Given the description of an element on the screen output the (x, y) to click on. 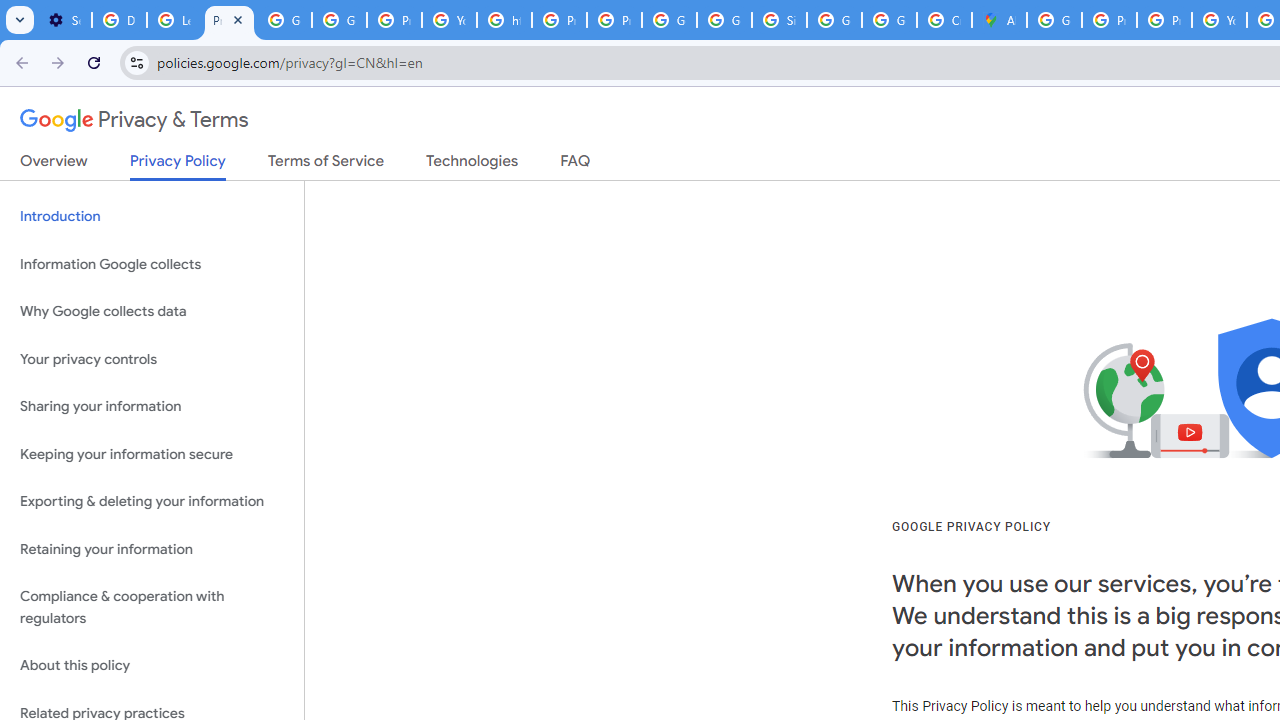
YouTube (449, 20)
Create your Google Account (943, 20)
Settings - Performance (64, 20)
